Given the description of an element on the screen output the (x, y) to click on. 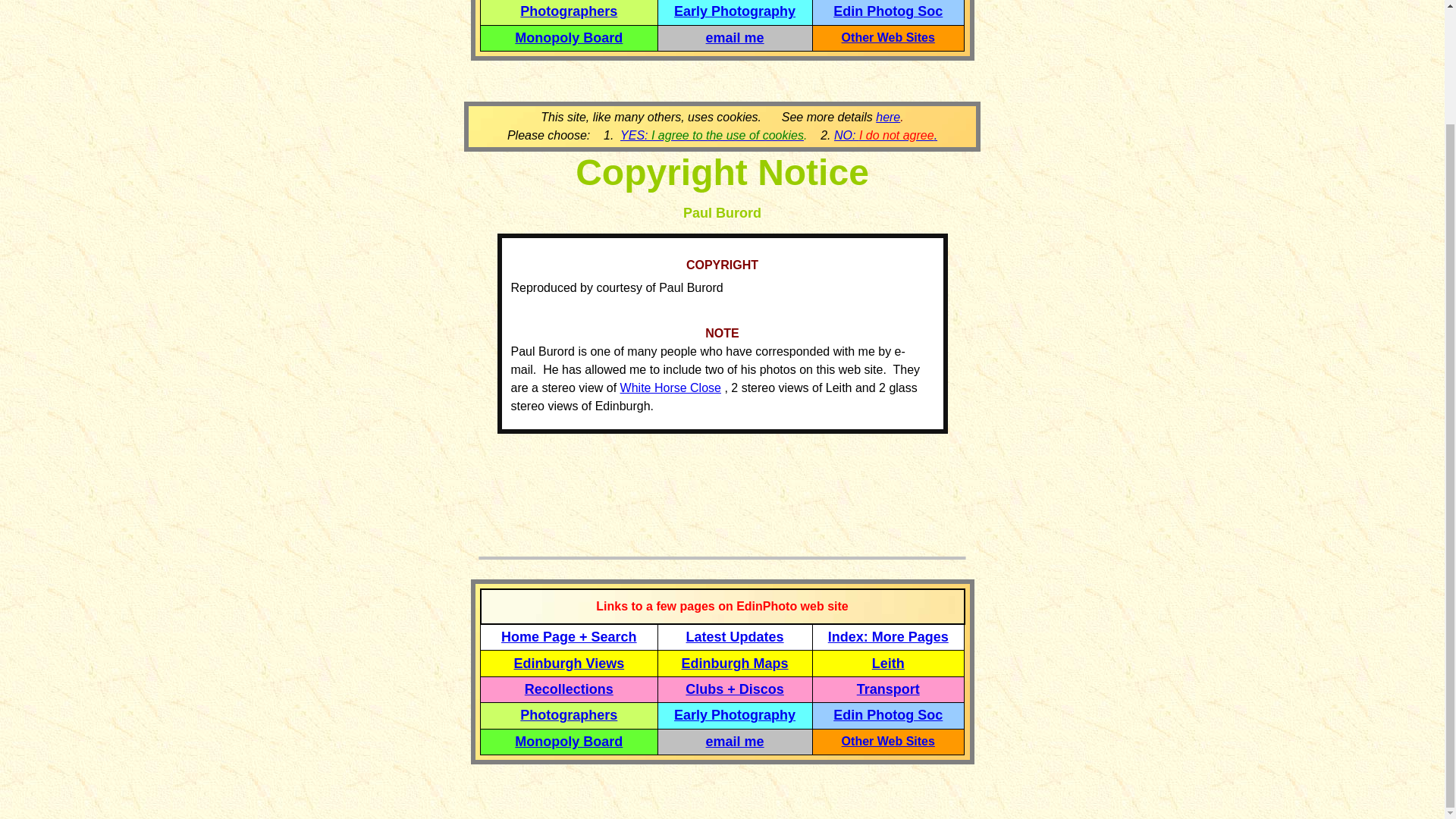
Latest Updates (734, 636)
here (887, 116)
email me (735, 741)
Photographers (568, 714)
Early Photography (734, 11)
email me (735, 37)
YES: I agree to the use of cookies (711, 134)
Transport (888, 688)
Edinburgh Maps (735, 663)
Recollections (568, 688)
Early Photography (734, 714)
Edin Photog Soc (887, 11)
Index: More Pages (888, 636)
Other Web Sites (887, 740)
Edin Photog Soc (887, 714)
